Given the description of an element on the screen output the (x, y) to click on. 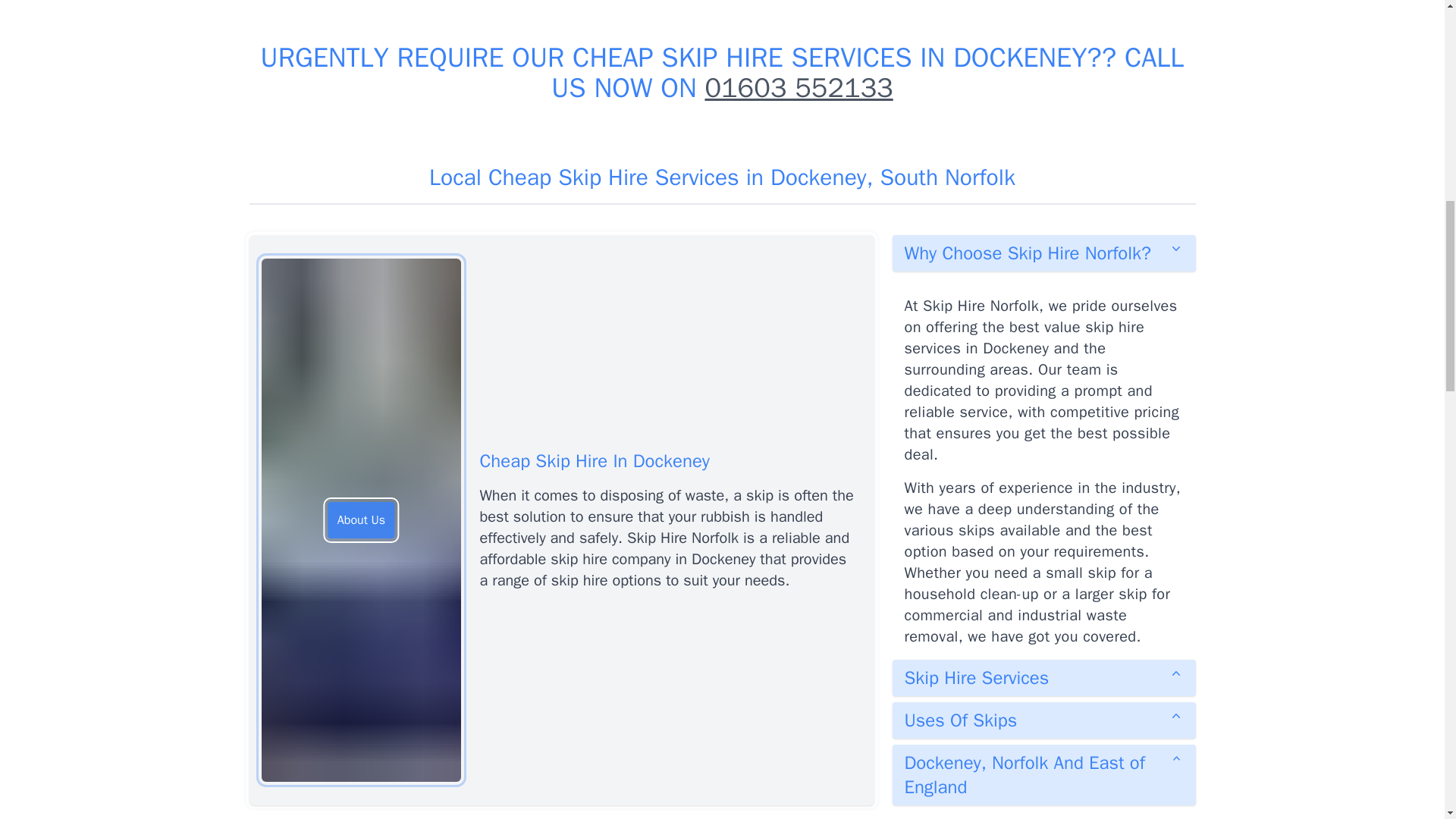
Why Choose Skip Hire Norfolk? (1043, 253)
Skip Hire Services (1043, 678)
About Us (361, 520)
Dockeney, Norfolk And East of England (1043, 774)
Uses Of Skips (1043, 719)
01603 552133 (798, 87)
